Given the description of an element on the screen output the (x, y) to click on. 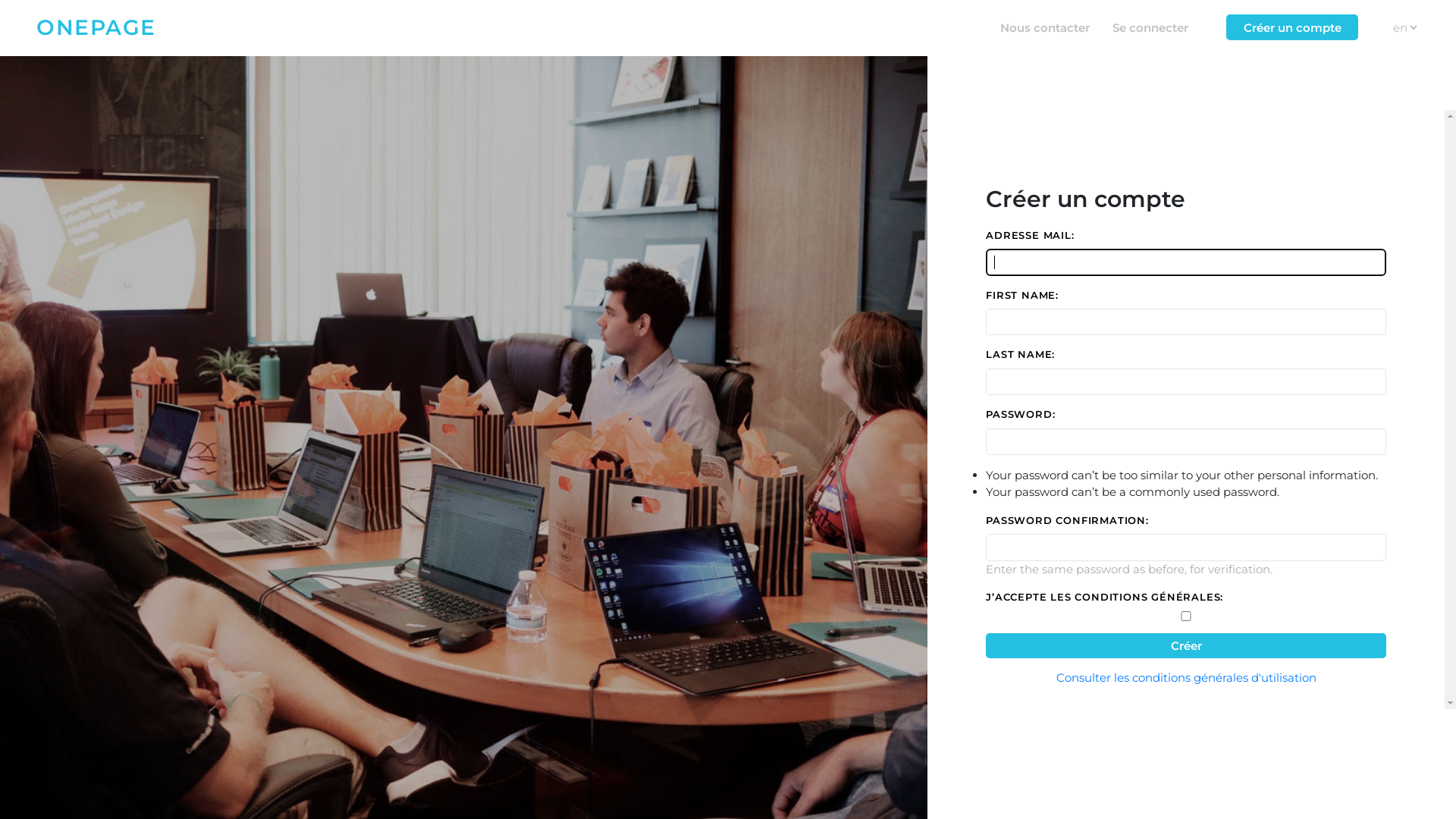
ONEPAGE Element type: text (96, 27)
Se connecter Element type: text (1150, 27)
Go Element type: text (1425, 21)
Nous contacter Element type: text (1044, 27)
